Given the description of an element on the screen output the (x, y) to click on. 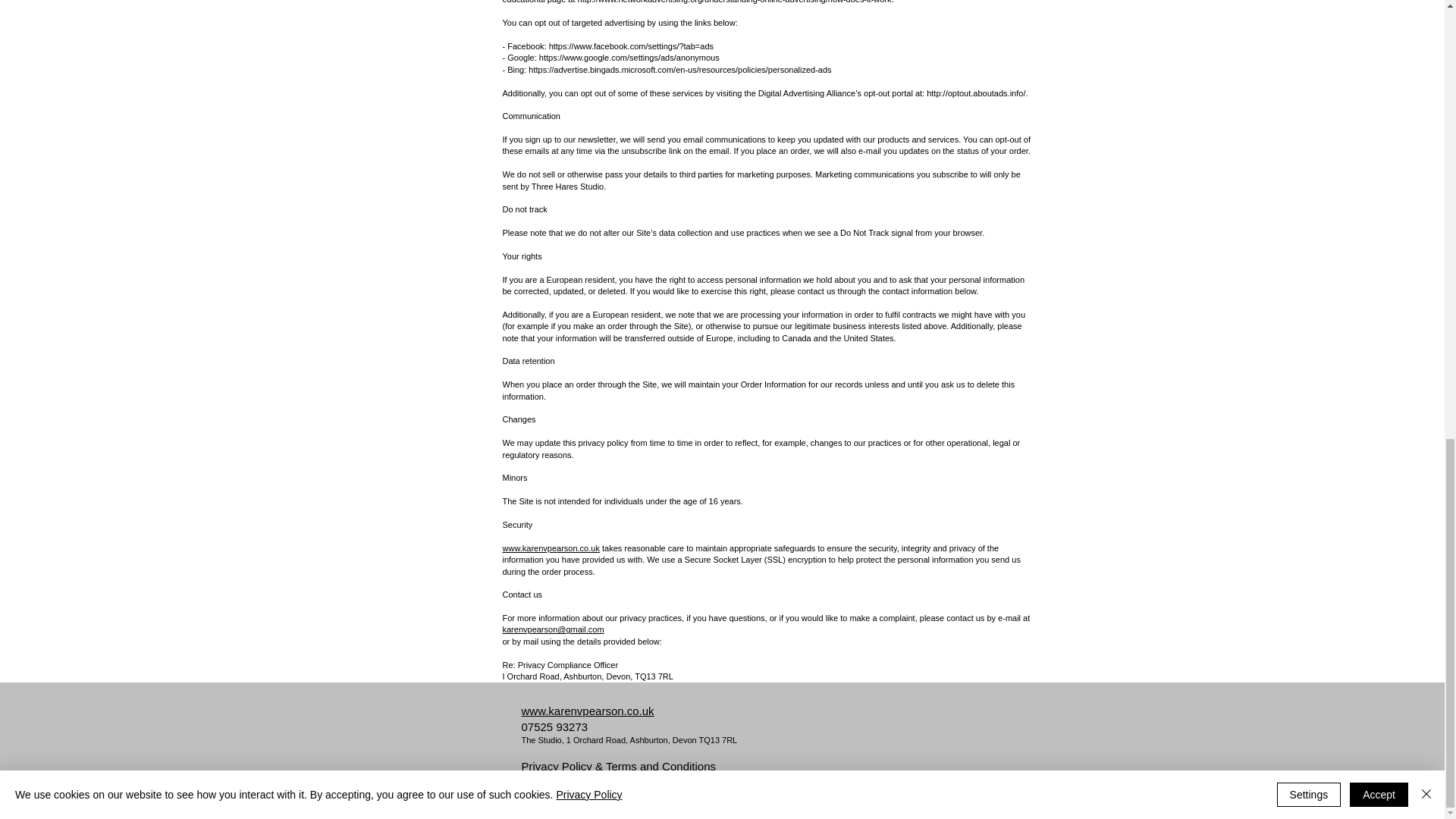
www.karenvpearson.co.uk (550, 547)
www.karenvpearson.co.uk (587, 710)
